Given the description of an element on the screen output the (x, y) to click on. 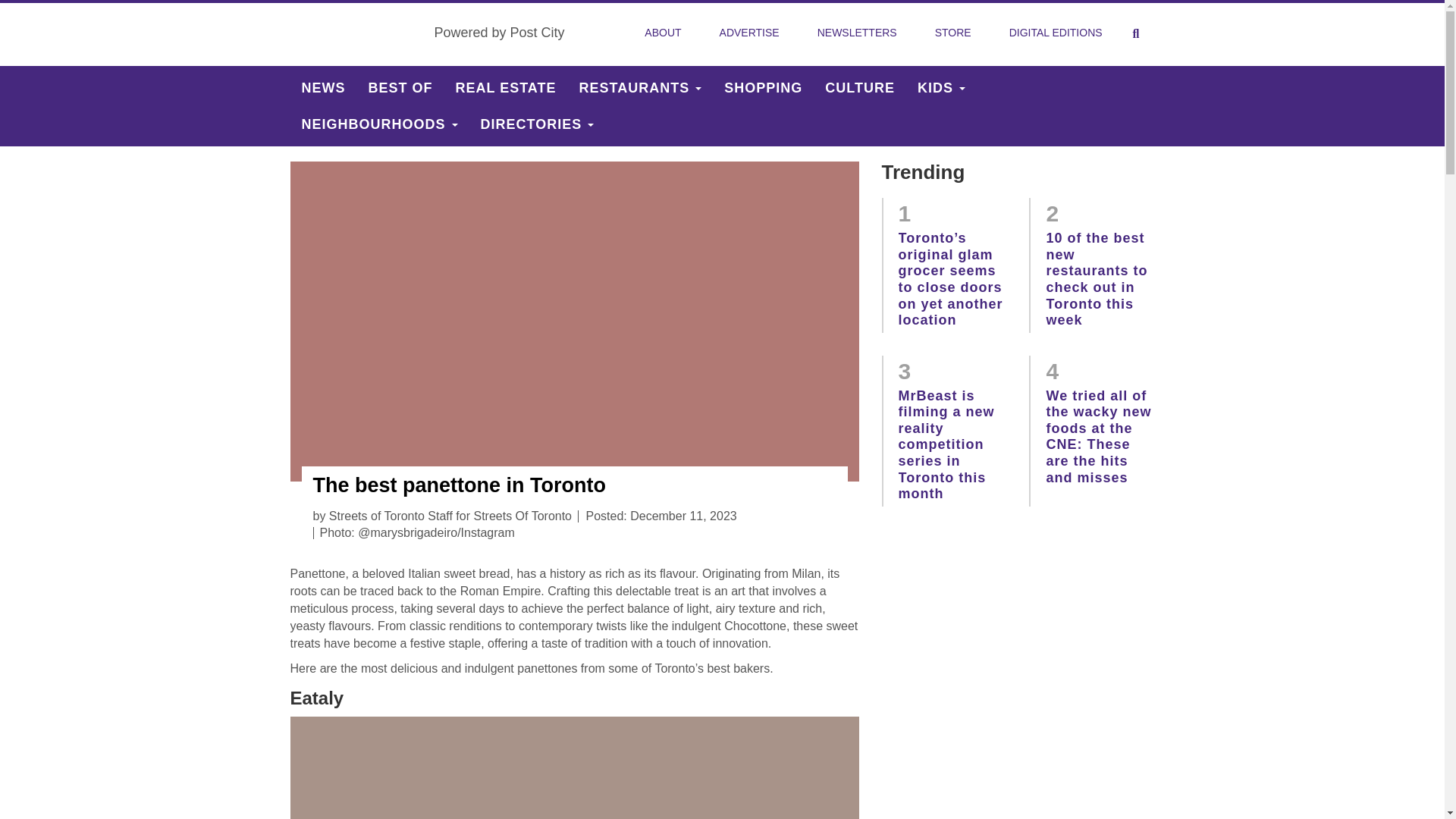
Streets Of Toronto (355, 33)
NEWS (322, 87)
REAL ESTATE (505, 87)
STORE (953, 32)
RESTAURANTS (640, 87)
ABOUT (661, 32)
BEST OF (400, 87)
DIGITAL EDITIONS (1056, 32)
ADVERTISE (749, 32)
NEWSLETTERS (857, 32)
